Given the description of an element on the screen output the (x, y) to click on. 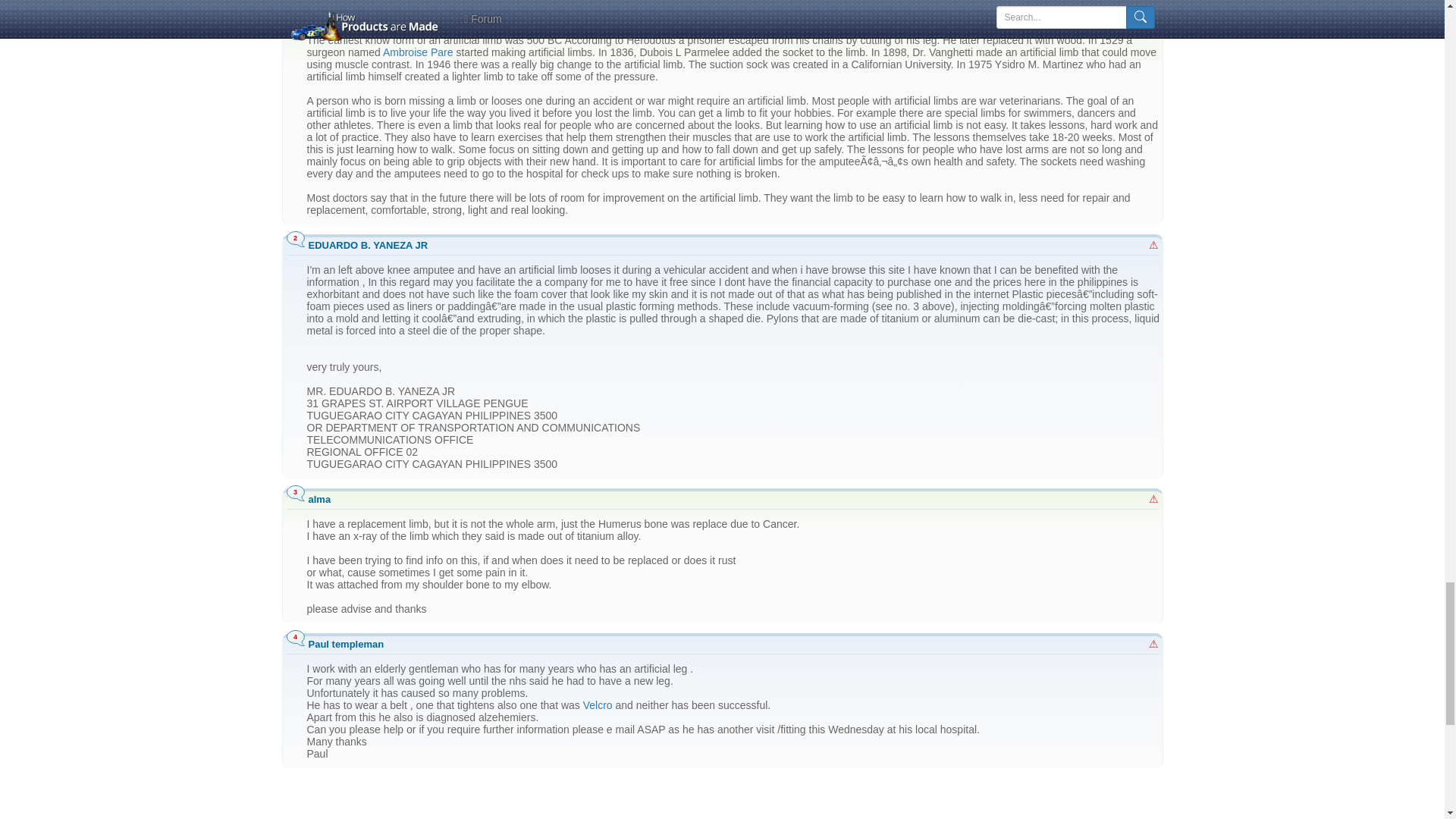
Ambroise Pare (417, 51)
View 'ambroise pare' definition from Wikipedia (417, 51)
Velcro (597, 705)
View 'velcro' definition from Wikipedia (597, 705)
